Given the description of an element on the screen output the (x, y) to click on. 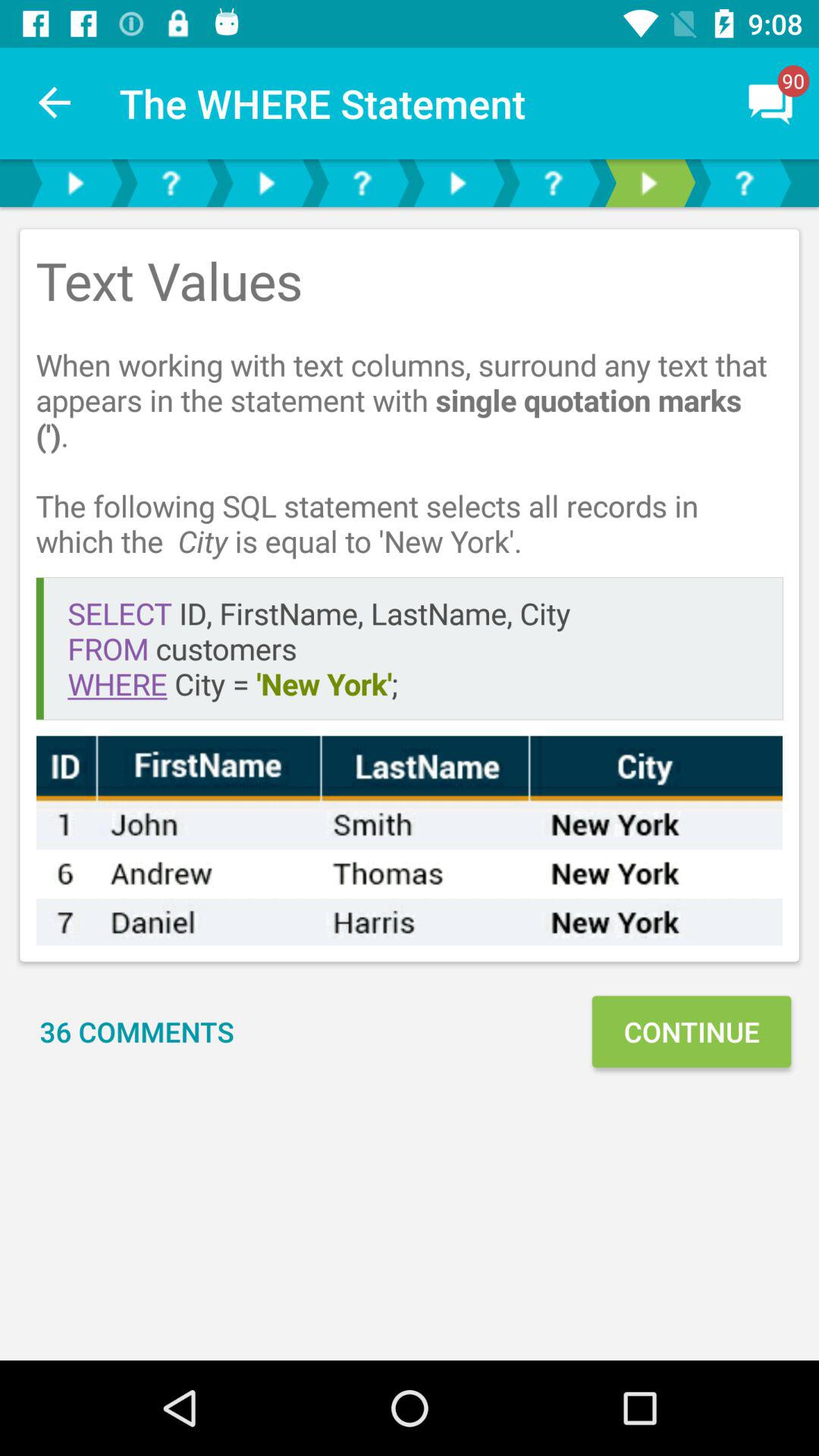
go to next page (265, 183)
